Given the description of an element on the screen output the (x, y) to click on. 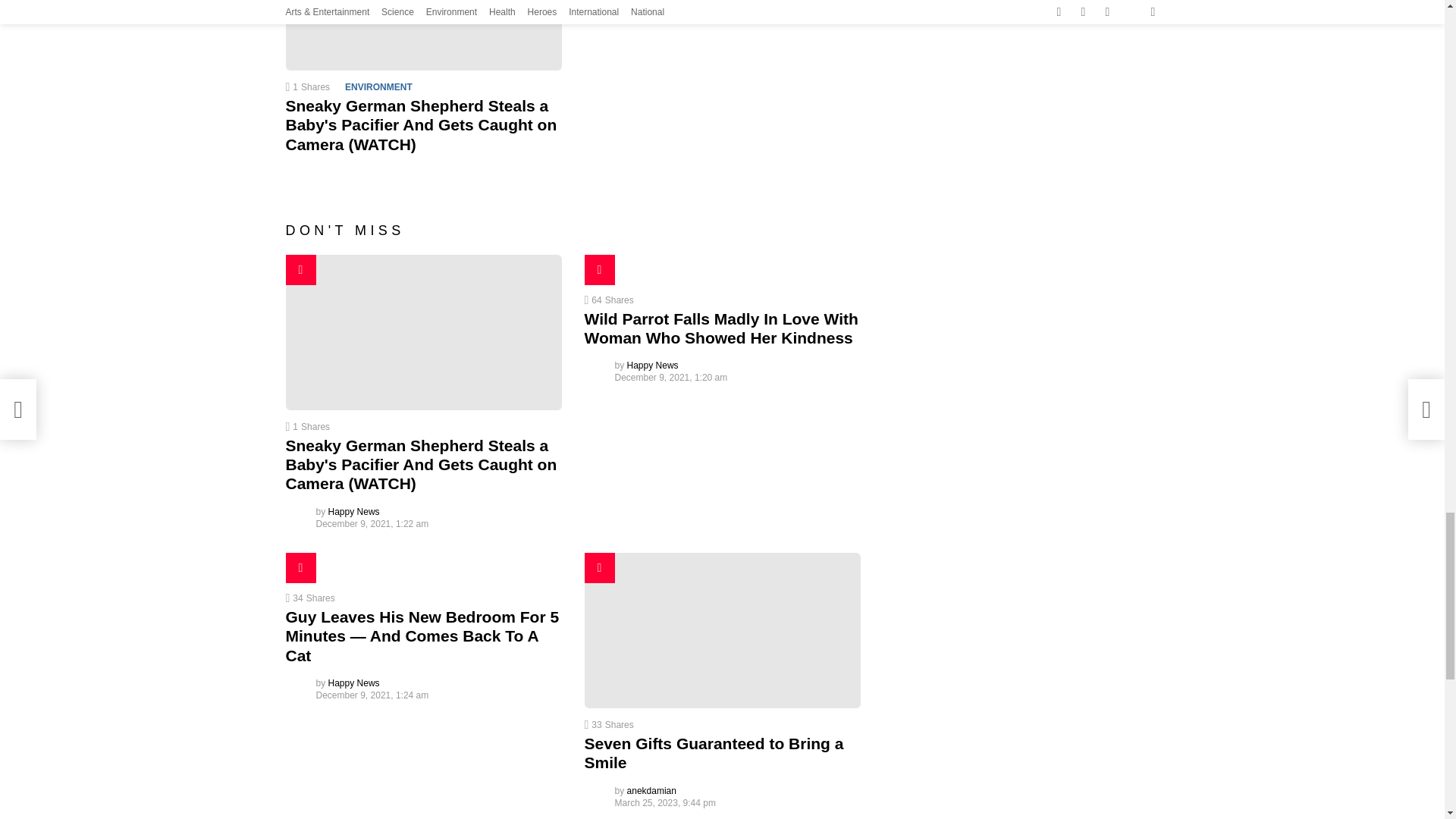
Hot (598, 269)
Hot (300, 567)
Hot (300, 269)
Posts by Happy News (652, 365)
Posts by Happy News (354, 511)
